Given the description of an element on the screen output the (x, y) to click on. 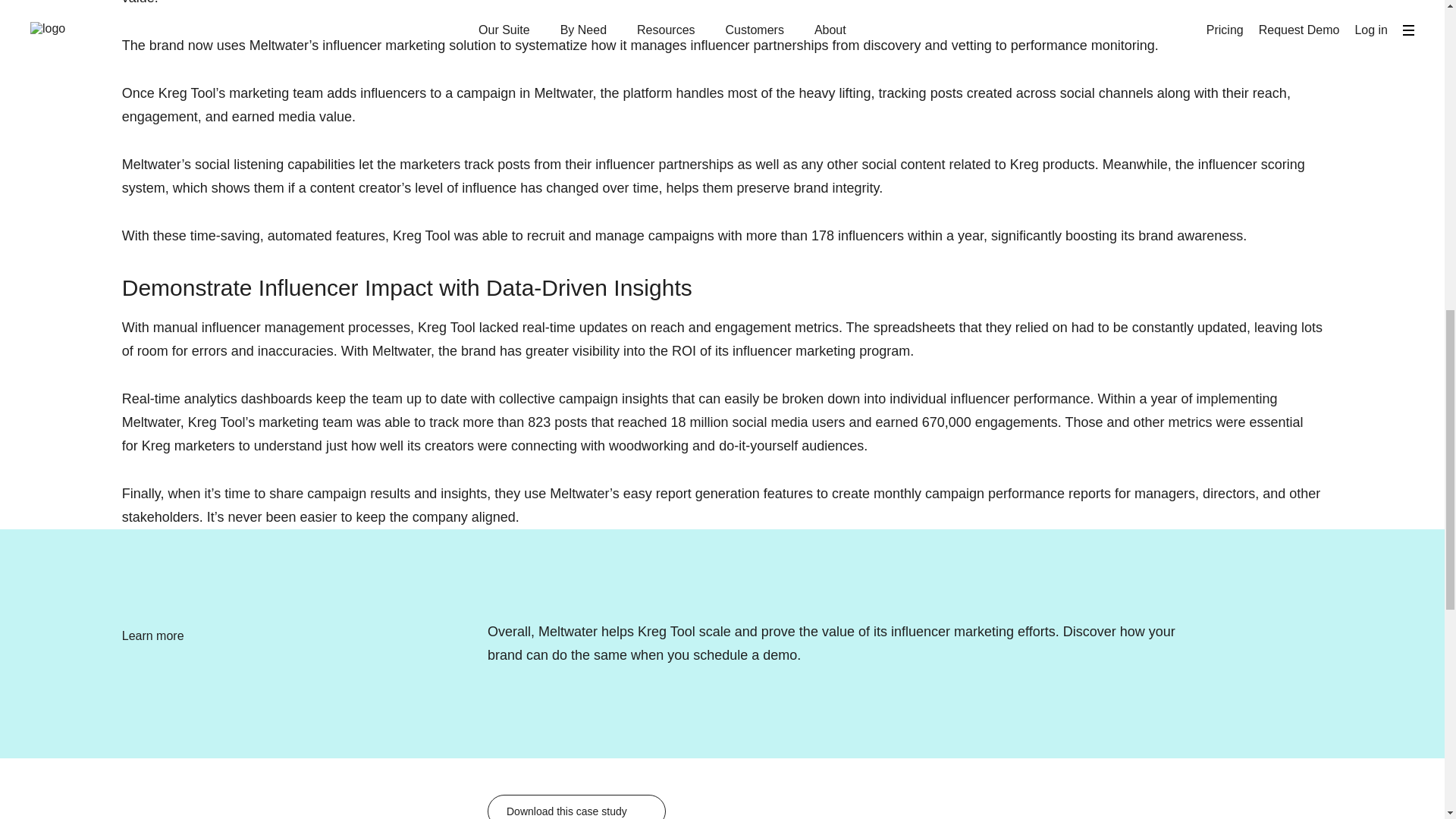
schedule a demo (744, 654)
influencer management processes (306, 327)
boosting its brand awareness (1154, 235)
Download this case study (576, 806)
